Given the description of an element on the screen output the (x, y) to click on. 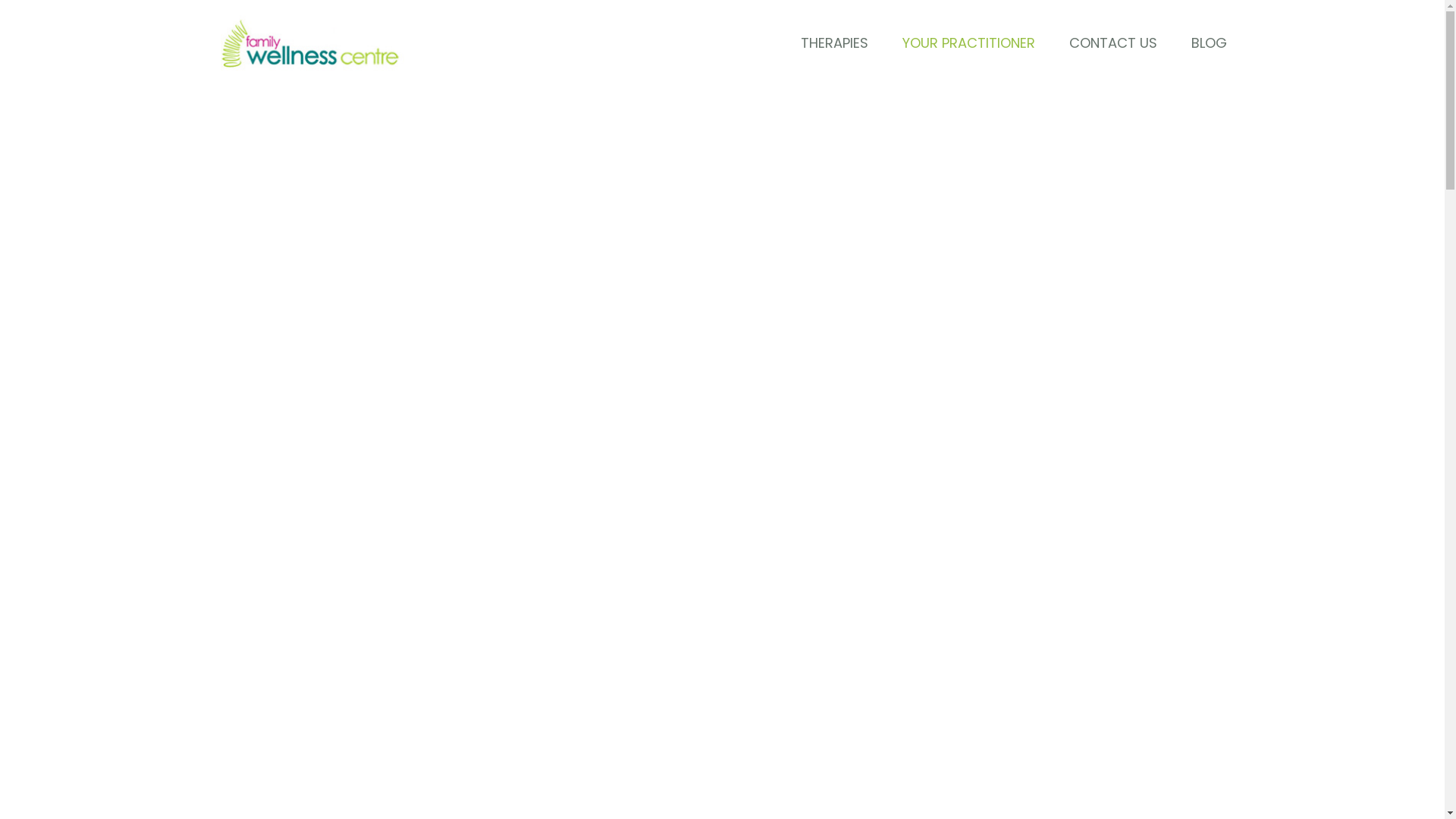
CONTACT US Element type: text (1112, 43)
THERAPIES Element type: text (833, 43)
BLOG Element type: text (1208, 43)
YOUR PRACTITIONER Element type: text (967, 43)
